Given the description of an element on the screen output the (x, y) to click on. 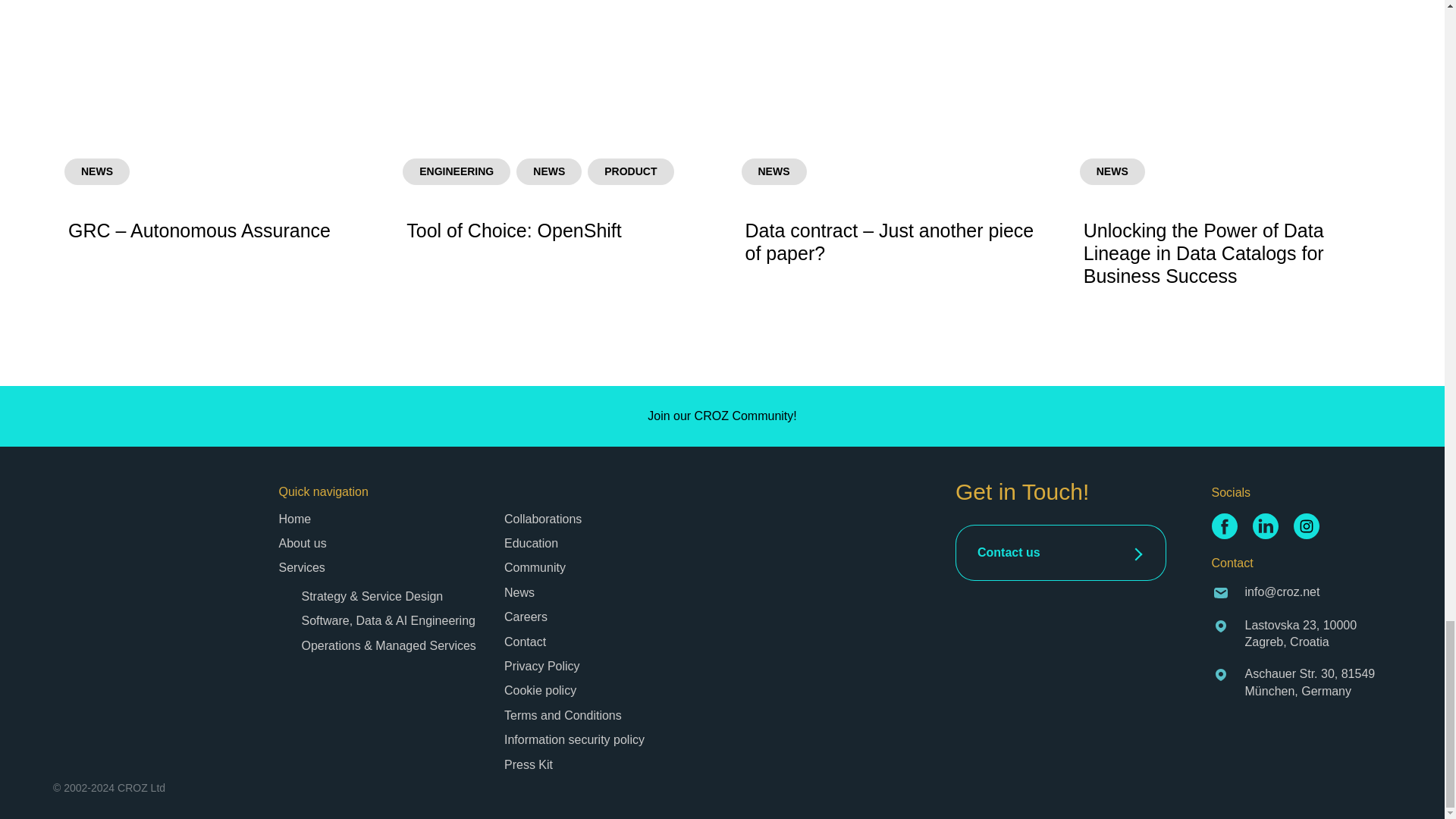
Join our CROZ Community! (721, 416)
